Given the description of an element on the screen output the (x, y) to click on. 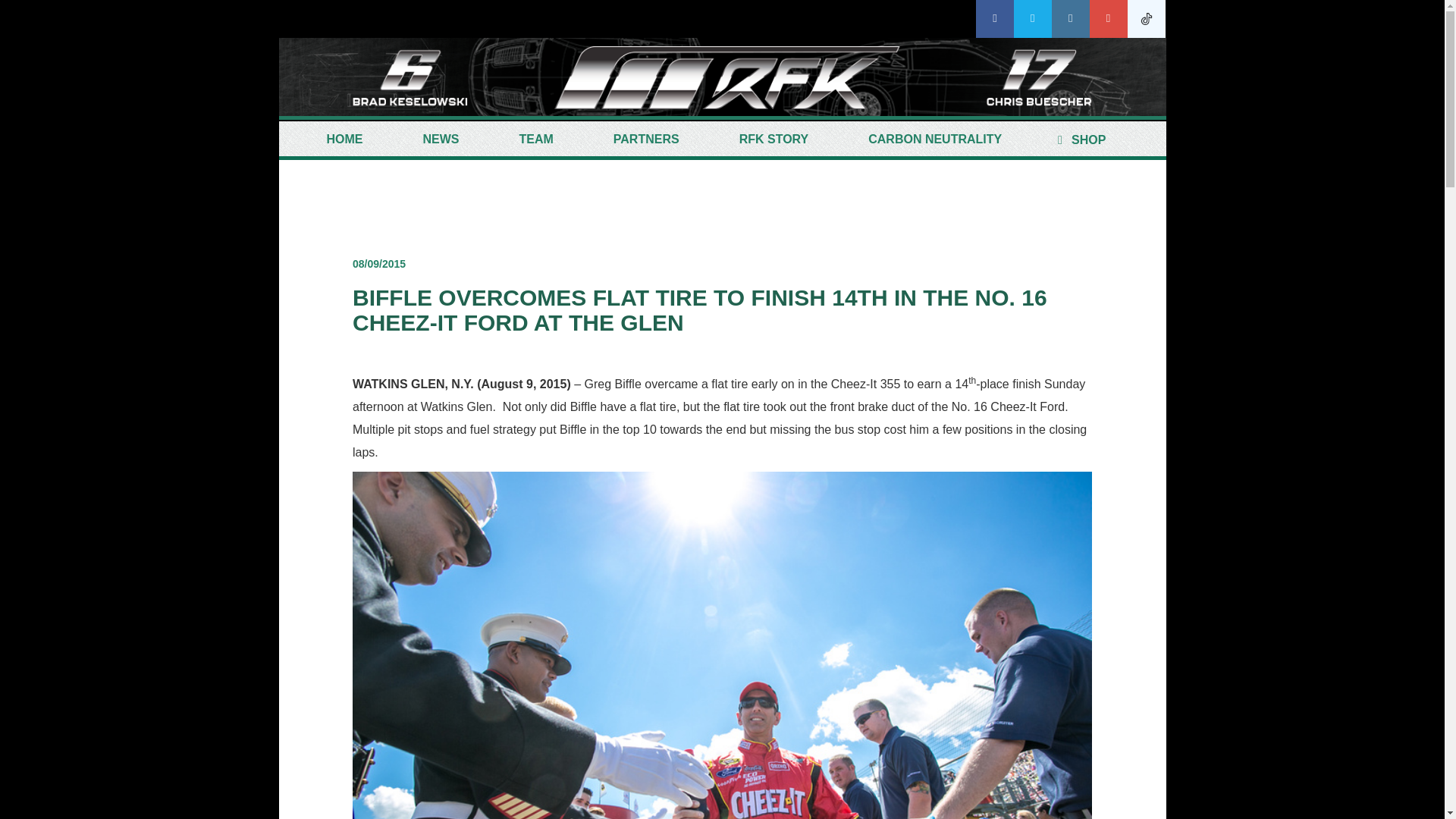
PARTNERS (646, 139)
TEAM (536, 139)
RFK STORY (773, 139)
CARBON NEUTRALITY (935, 139)
SHOP  (1078, 139)
HOME (344, 139)
NEWS (440, 139)
